Given the description of an element on the screen output the (x, y) to click on. 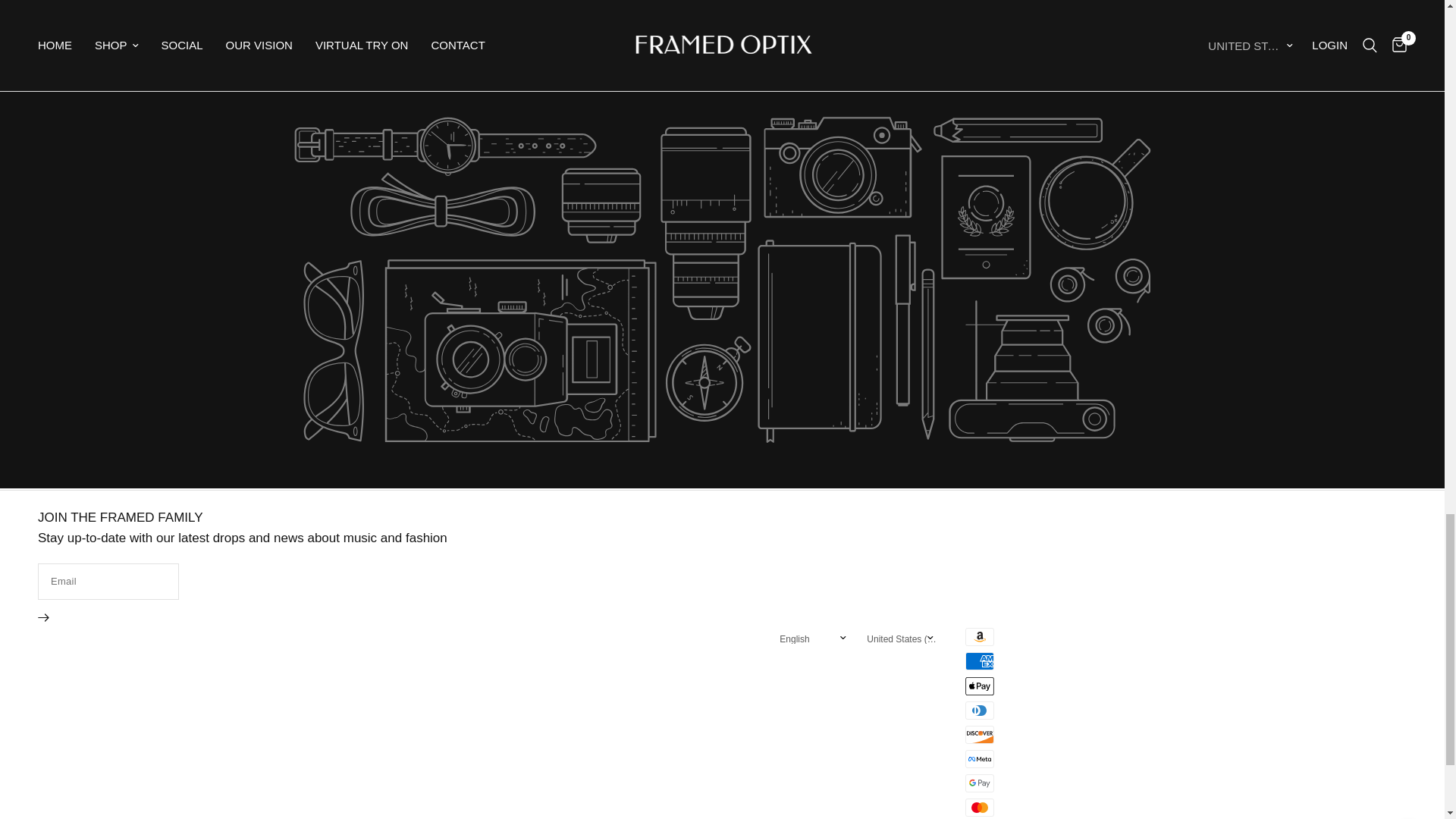
Amazon (979, 637)
American Express (979, 660)
